Given the description of an element on the screen output the (x, y) to click on. 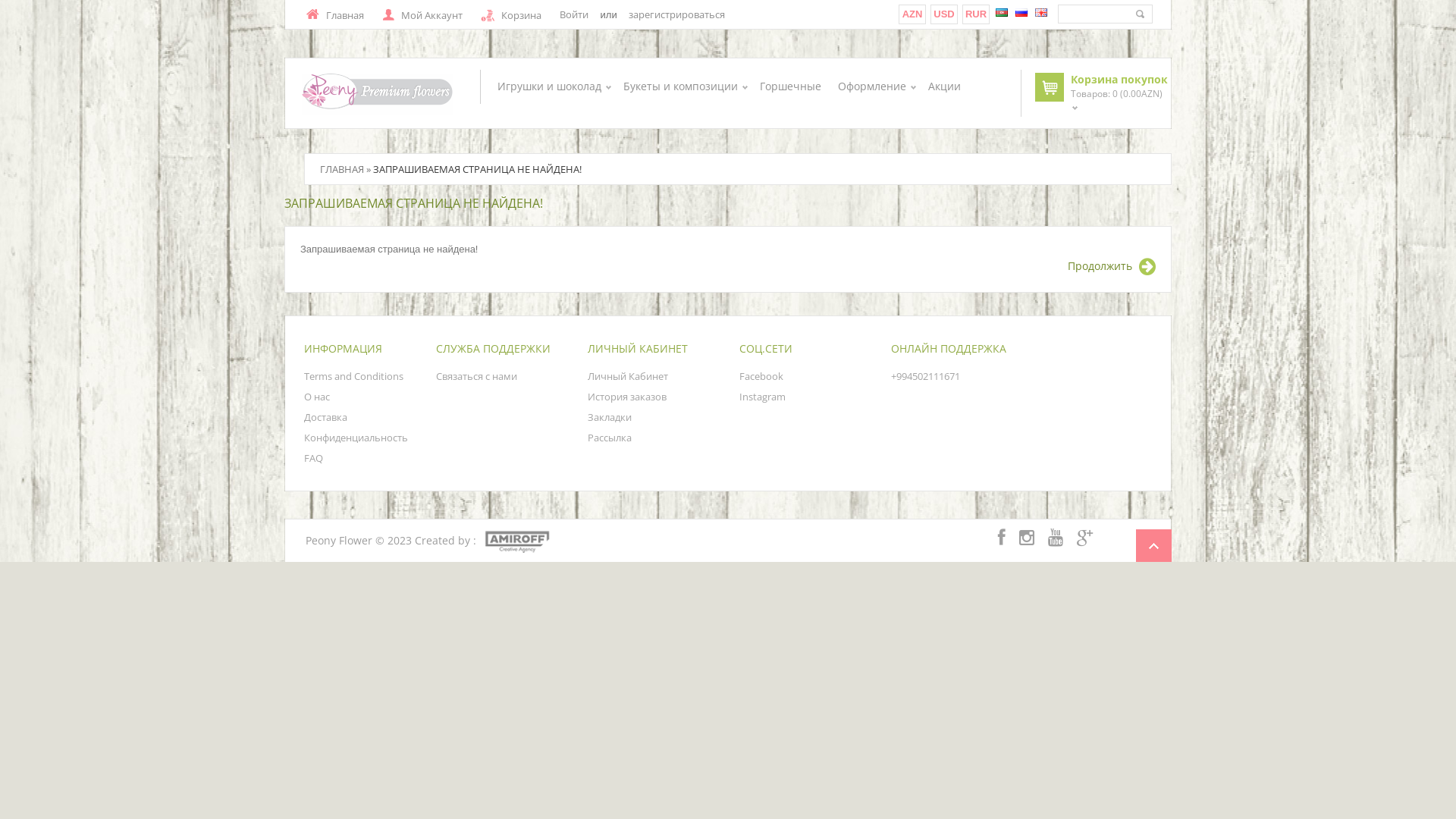
Facebook Element type: text (761, 375)
FAQ Element type: text (313, 457)
USD Element type: text (943, 13)
RUR Element type: text (975, 13)
English Element type: hover (1041, 11)
Instagram Element type: text (762, 396)
AZN Element type: text (912, 13)
Peony Flower Element type: hover (376, 94)
Terms and Conditions Element type: text (353, 375)
